Given the description of an element on the screen output the (x, y) to click on. 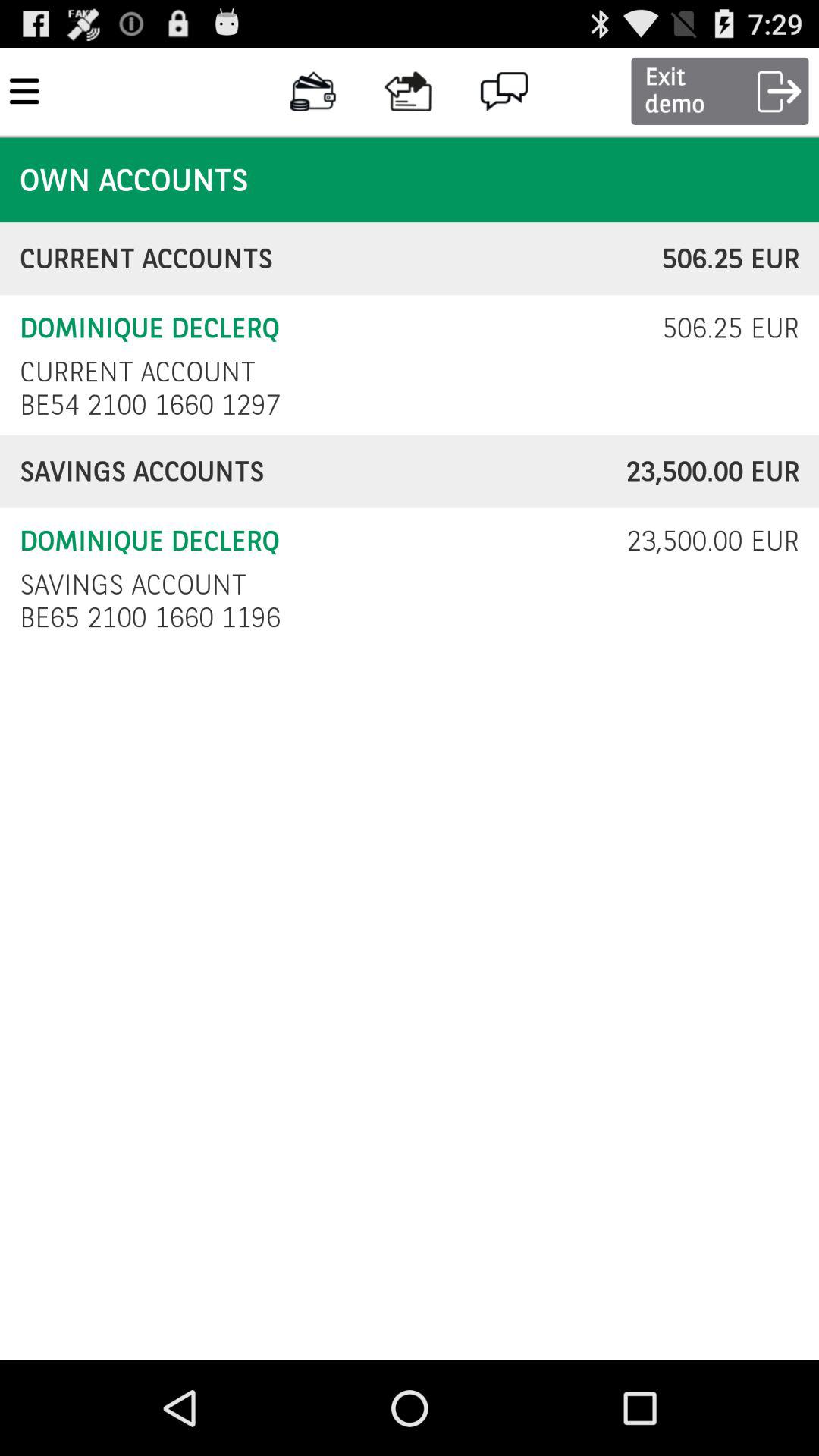
launch the icon below the dominique declerq (132, 584)
